Given the description of an element on the screen output the (x, y) to click on. 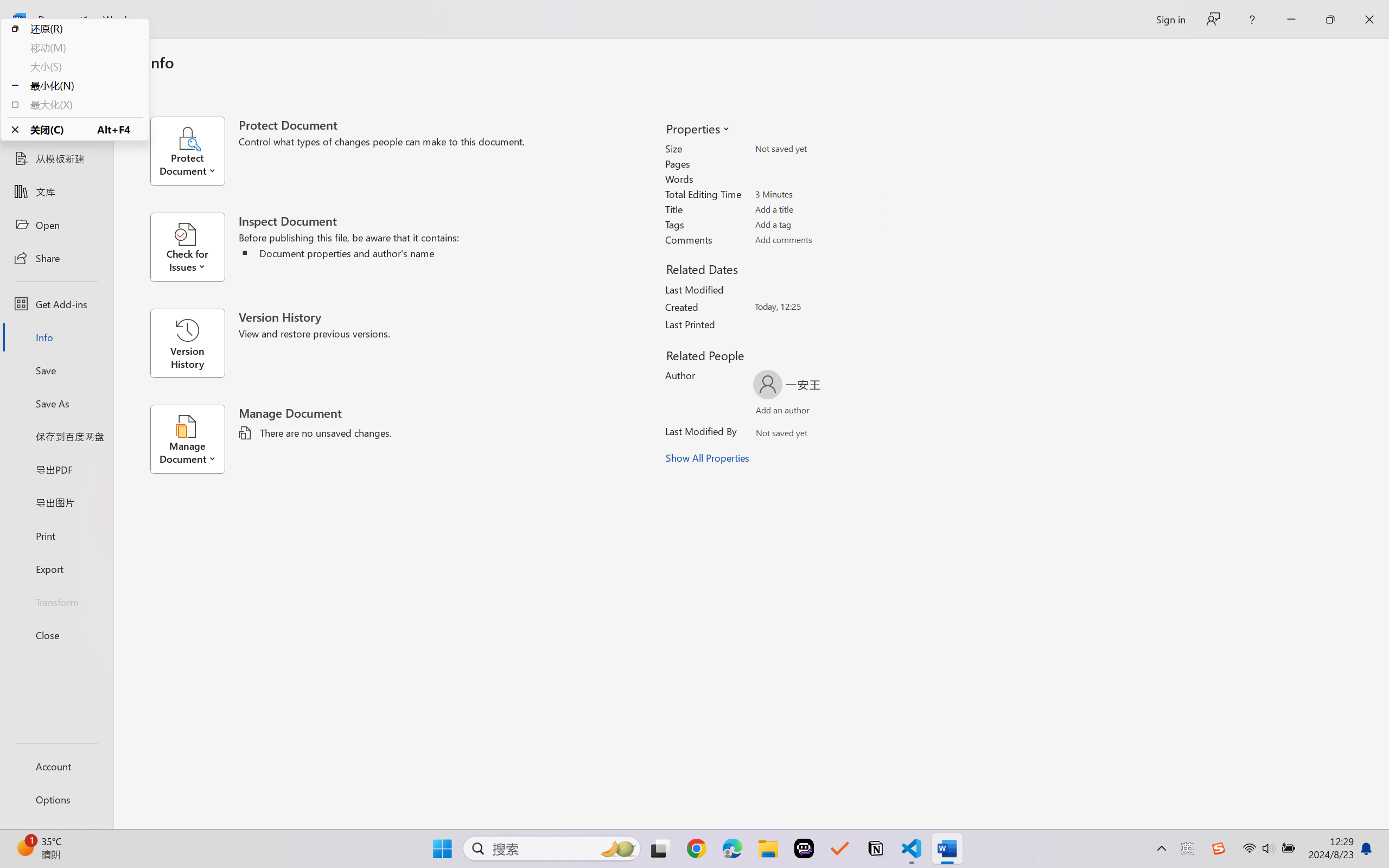
Info (56, 337)
Show All Properties (707, 457)
Protect Document (194, 150)
Verify Names (802, 434)
Manage Document (194, 438)
Properties (696, 128)
Options (56, 798)
